Given the description of an element on the screen output the (x, y) to click on. 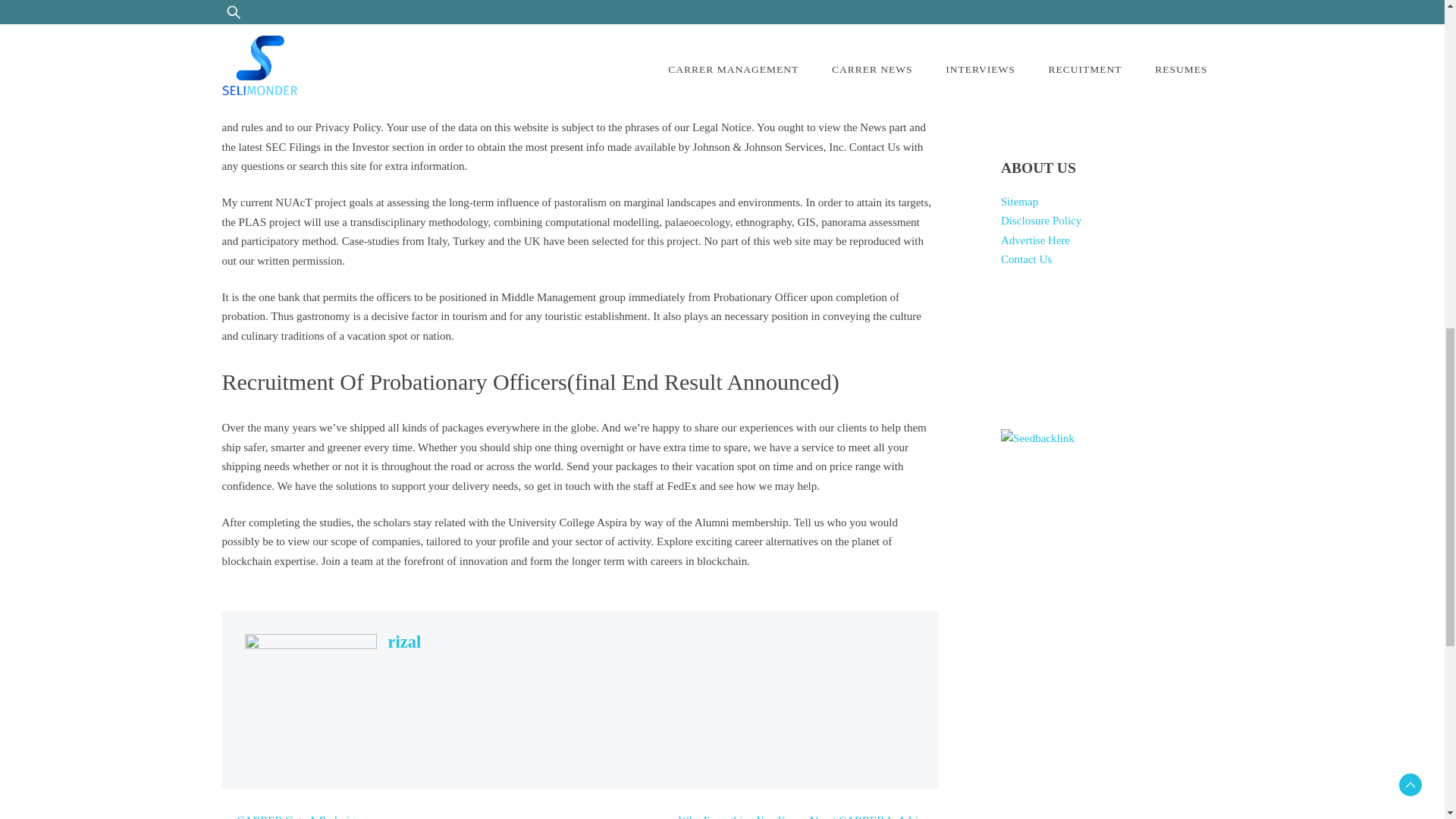
rizal (405, 641)
Why Everything You Know About CARRER Is A Lie (800, 816)
CARRER Gets A Redesign (298, 816)
Seedbacklink (1037, 438)
